Given the description of an element on the screen output the (x, y) to click on. 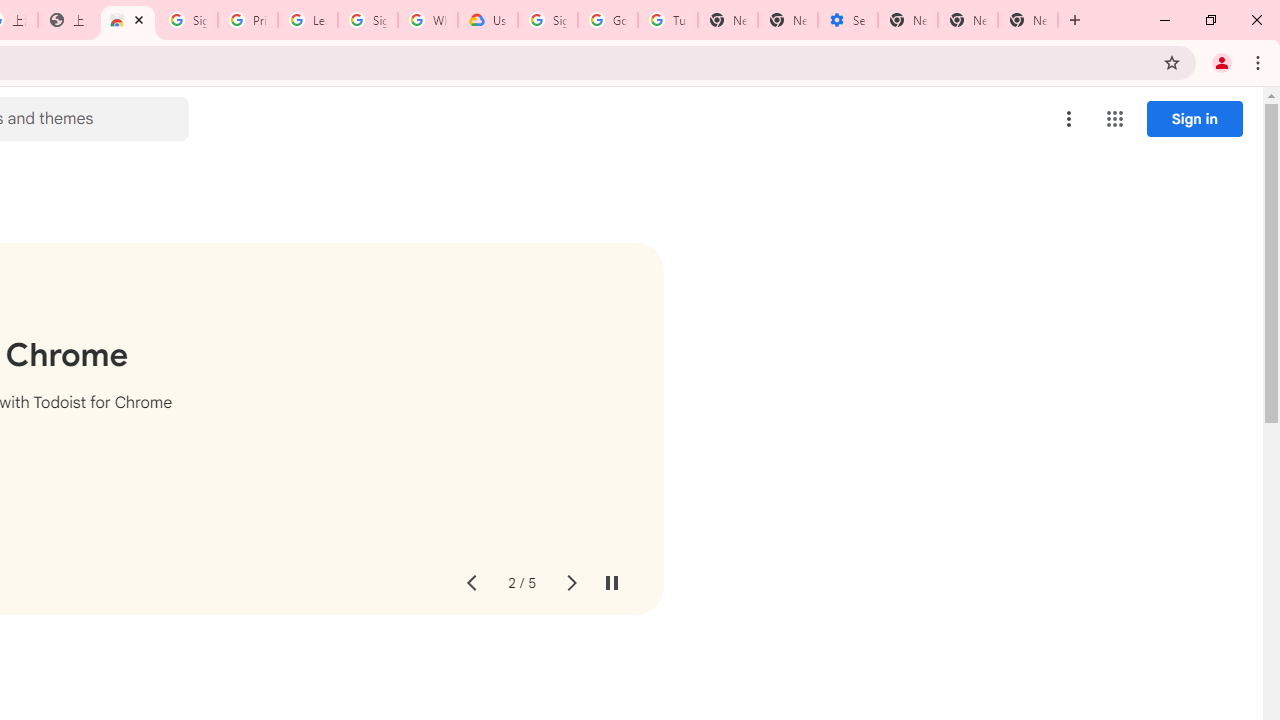
Chrome Web Store (127, 20)
Who are Google's partners? - Privacy and conditions - Google (428, 20)
Google Account Help (607, 20)
Sign in - Google Accounts (548, 20)
Settings - Addresses and more (847, 20)
Turn cookies on or off - Computer - Google Account Help (667, 20)
More options menu (1069, 118)
